Given the description of an element on the screen output the (x, y) to click on. 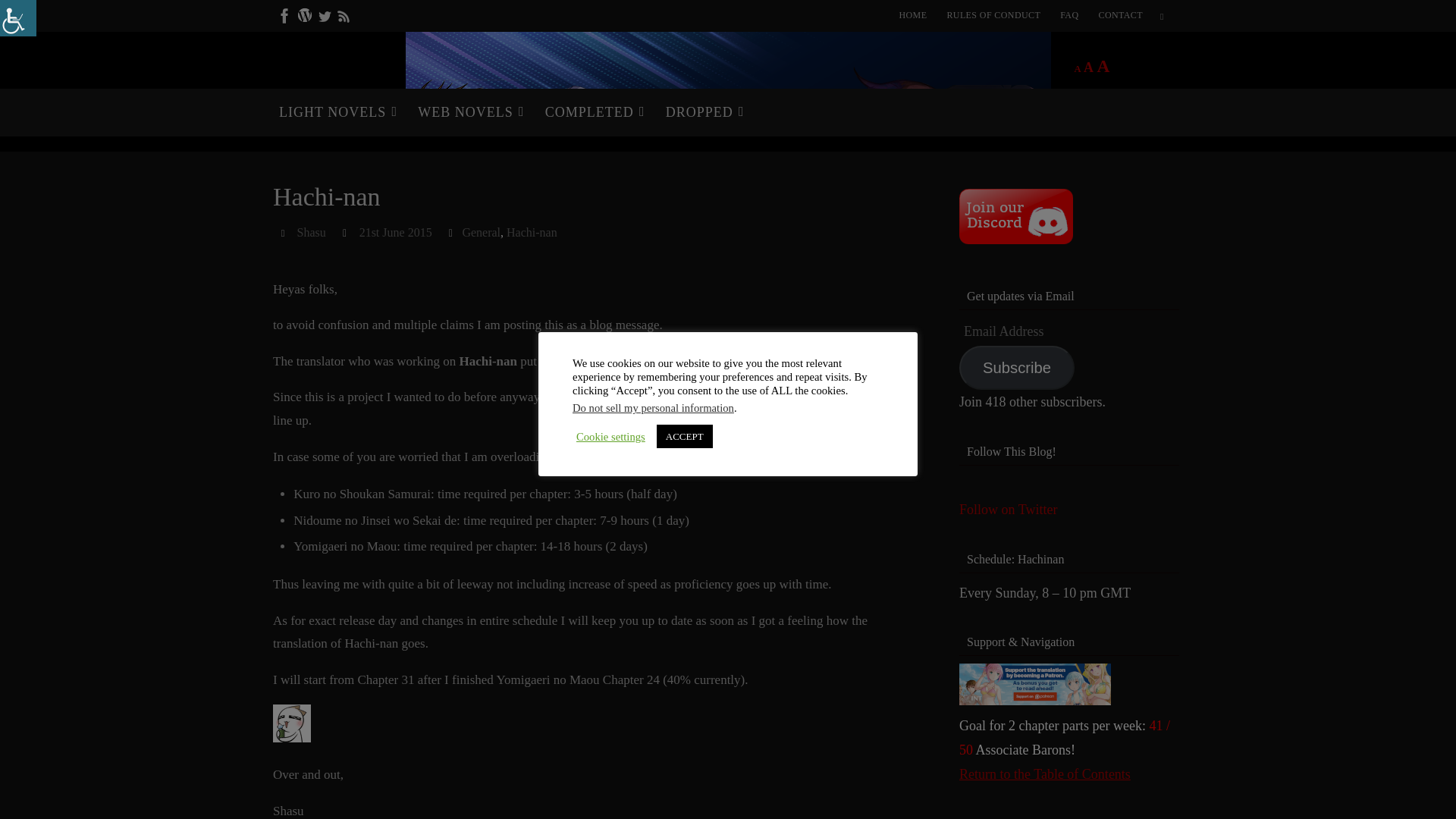
CONTACT (1120, 14)
RULES OF CONDUCT (993, 14)
LIGHT NOVELS (334, 112)
Accessibility Helper sidebar (18, 18)
FAQ (1069, 14)
HOME (912, 14)
